Given the description of an element on the screen output the (x, y) to click on. 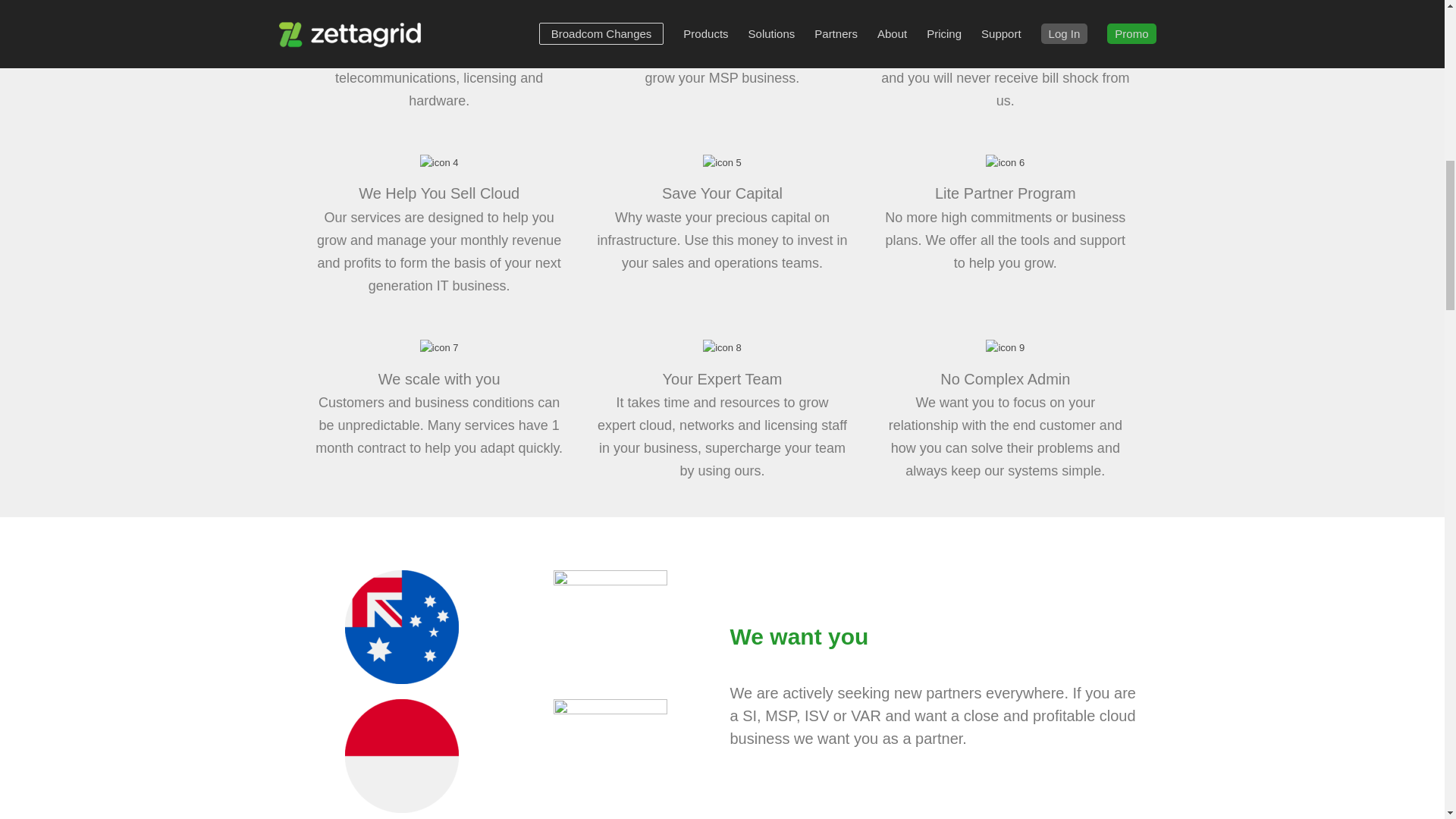
icon 6 (1005, 162)
icon 9 (1005, 347)
icon 8 (722, 347)
icon 4 (439, 162)
icon 5 (722, 162)
icon 7 (439, 347)
